Given the description of an element on the screen output the (x, y) to click on. 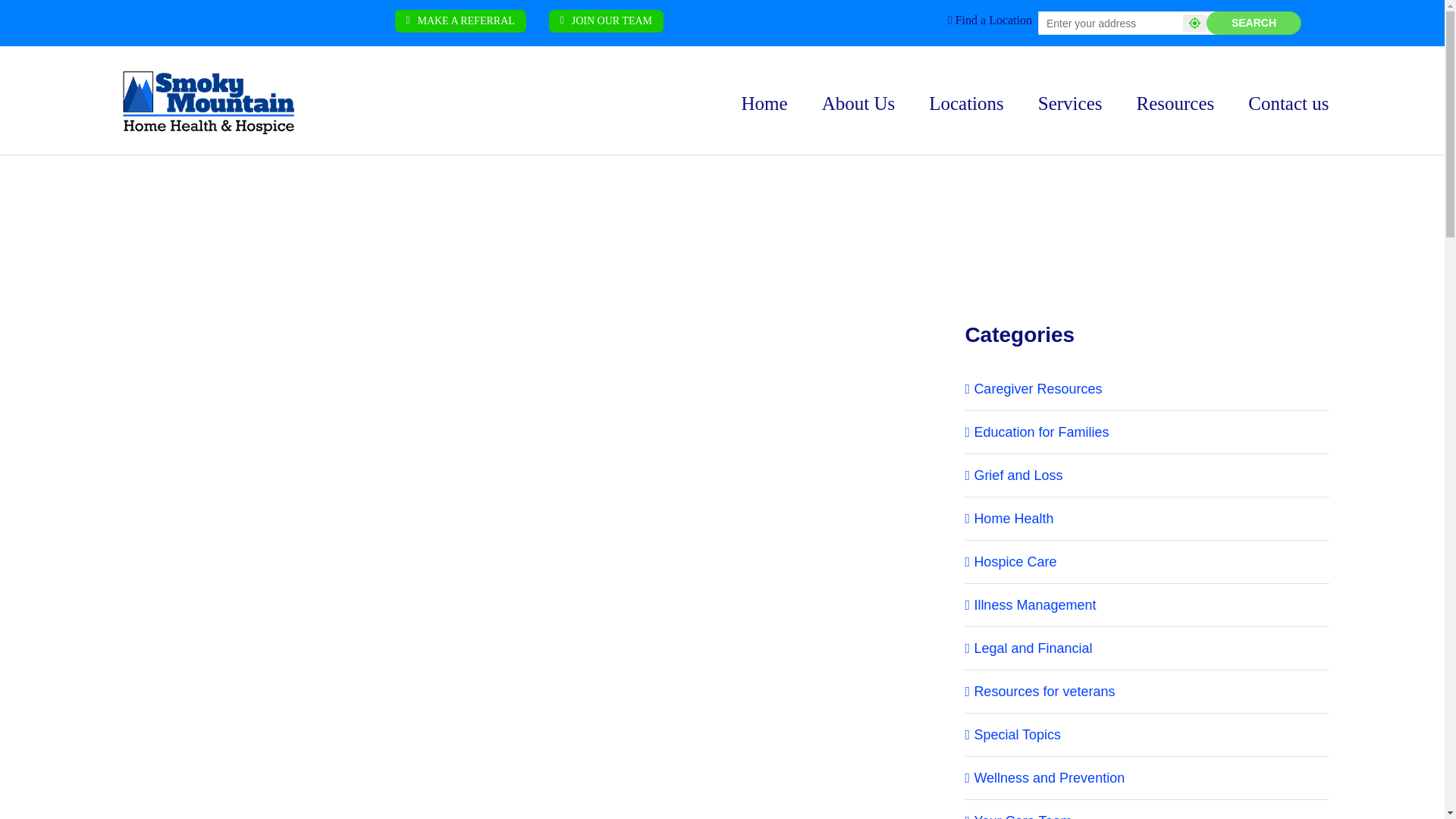
MAKE A REFERRAL (459, 20)
Current Location (1194, 22)
Resources (1174, 102)
Education for Families (1147, 431)
Grief and Loss (1147, 474)
Home Health (1147, 518)
JOIN OUR TEAM (605, 20)
SEARCH (1254, 23)
Illness Management (1147, 605)
Locations (966, 102)
